Given the description of an element on the screen output the (x, y) to click on. 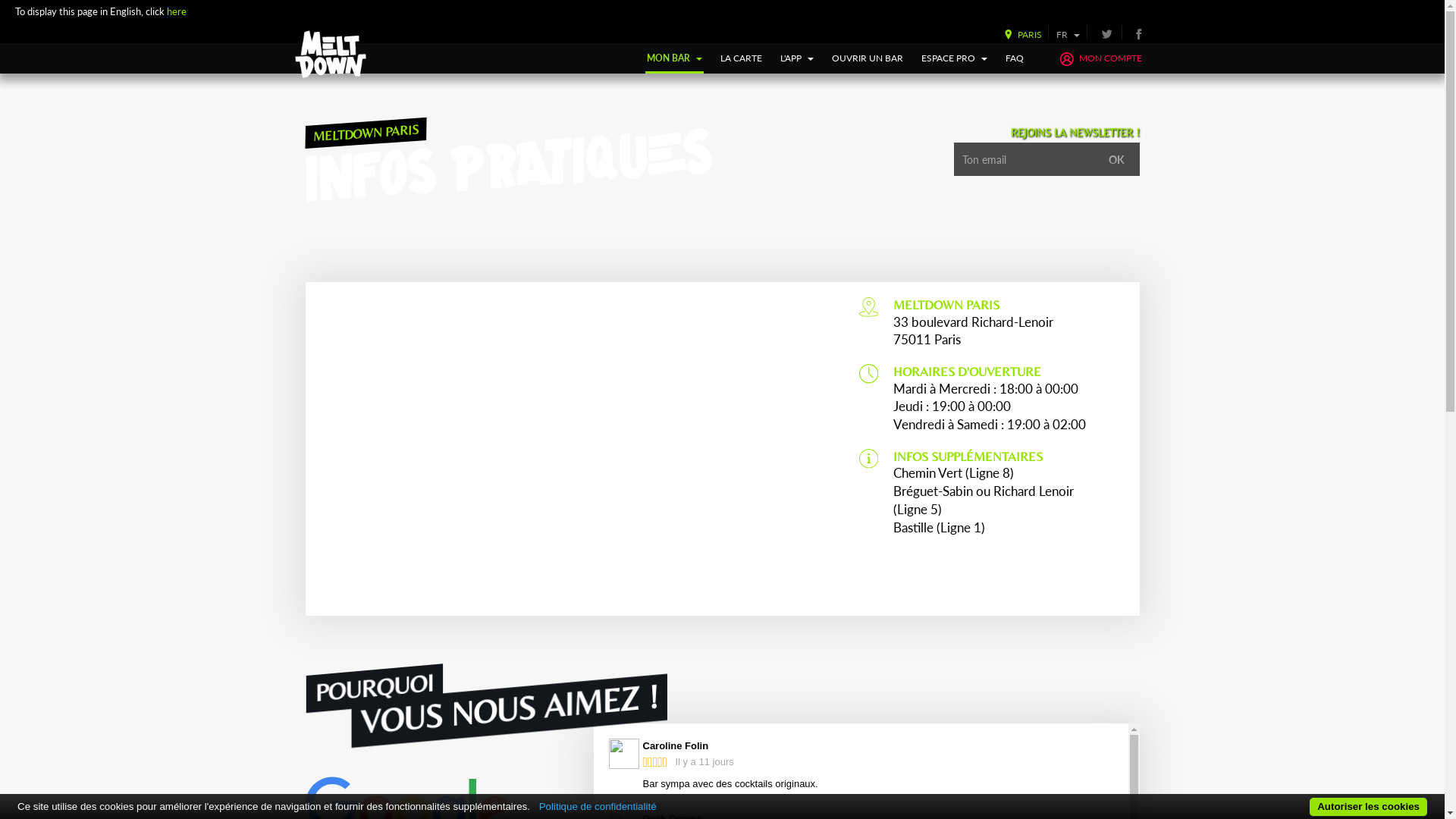
OUVRIR UN BAR Element type: text (867, 58)
ESPACE PRO Element type: text (954, 58)
MELTDOWN Element type: text (330, 54)
OK Element type: text (1116, 158)
Autoriser les cookies Element type: text (1368, 806)
MON BAR Element type: text (674, 58)
MON COMPTE Element type: text (1099, 58)
FACEBOOK Element type: text (1138, 32)
LA CARTE Element type: text (741, 58)
FAQ Element type: text (1014, 58)
TWITTER Element type: text (1107, 32)
L'APP Element type: text (796, 58)
PARIS Element type: text (1019, 34)
FR Element type: text (1067, 34)
33 boulevard Richard-Lenoir
75011 Paris Element type: text (973, 330)
here Element type: text (176, 10)
